Given the description of an element on the screen output the (x, y) to click on. 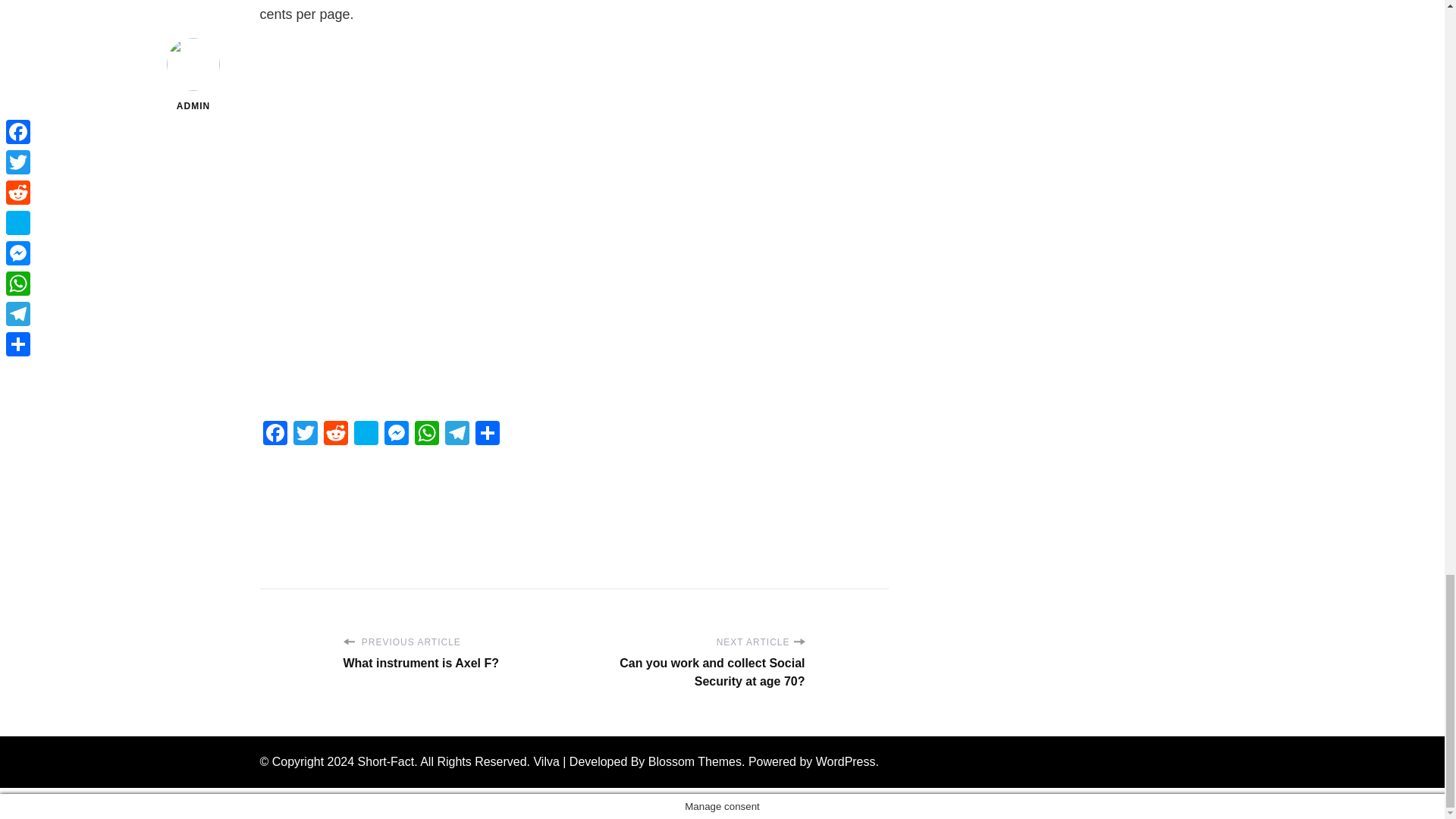
Twitter (304, 434)
Facebook (274, 434)
Telegram (456, 434)
Messenger (395, 434)
Facebook (274, 434)
Twitter (304, 434)
Messenger (395, 434)
Telegram (456, 434)
Reddit (335, 434)
